Given the description of an element on the screen output the (x, y) to click on. 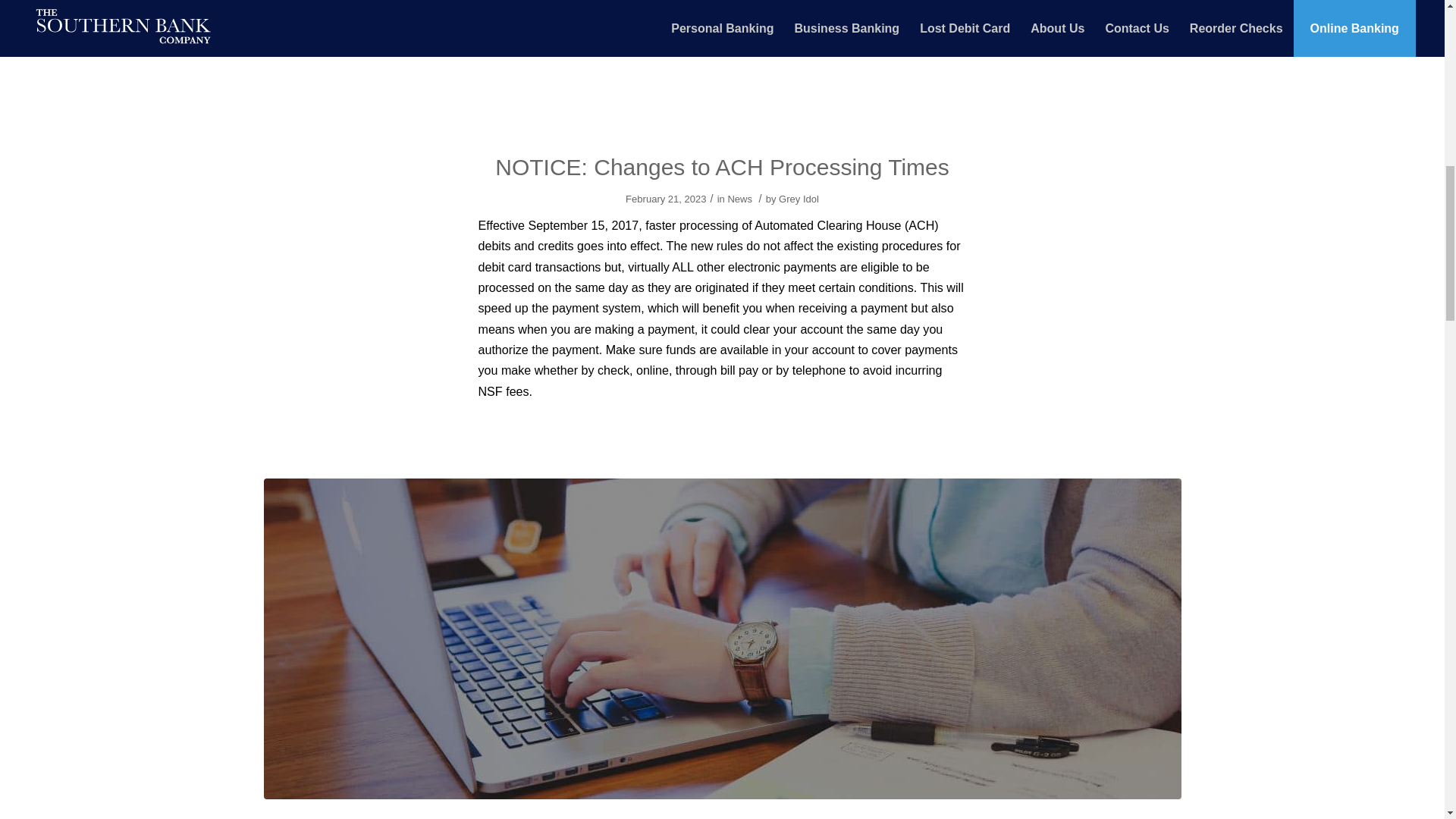
opens in a new window (612, 21)
News (739, 198)
Grey Idol (798, 198)
NOTICE: Changes to ACH Processing Times (722, 166)
